Given the description of an element on the screen output the (x, y) to click on. 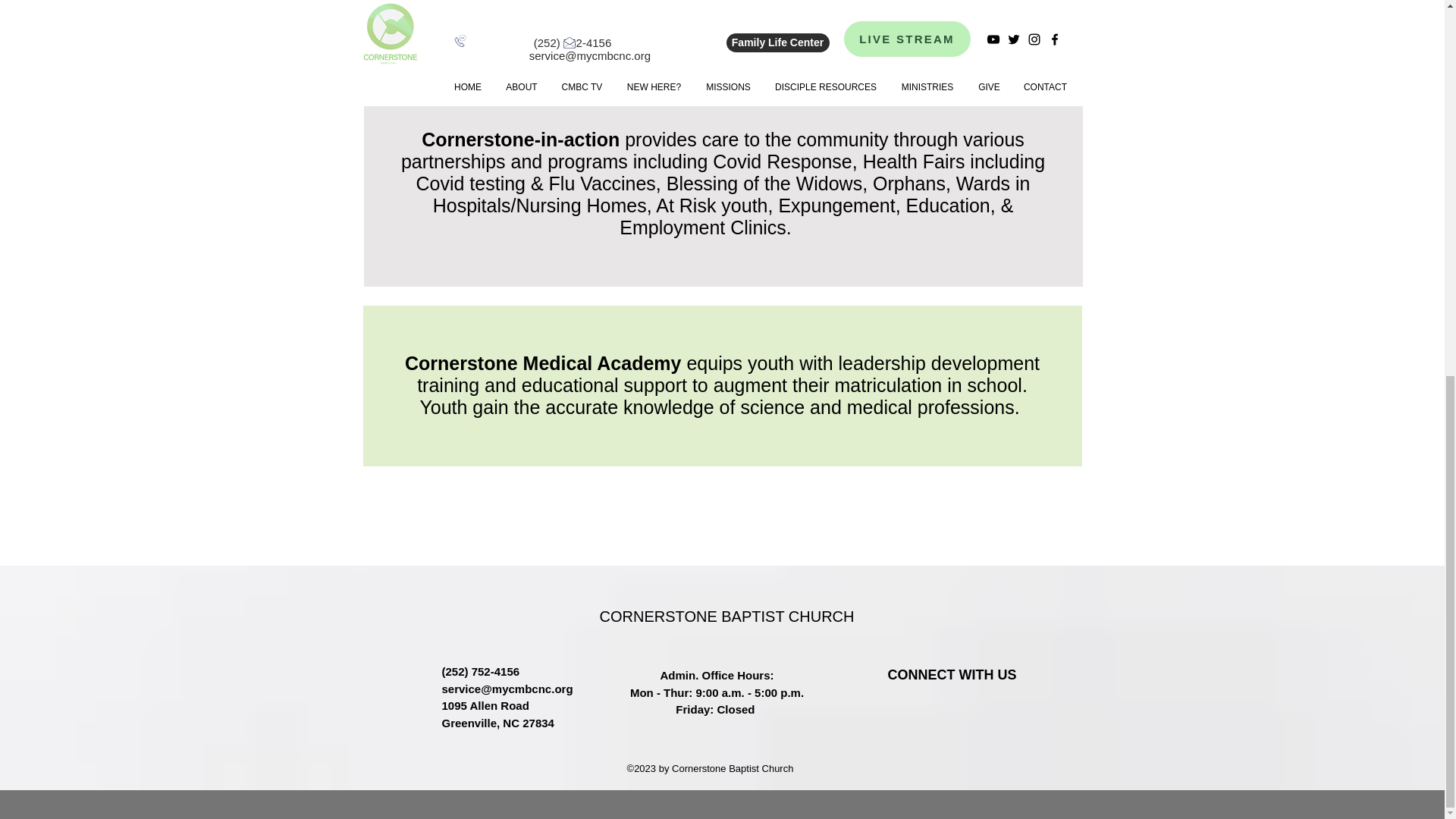
CORNERSTONE BAPTIST CHURCH (727, 615)
